Given the description of an element on the screen output the (x, y) to click on. 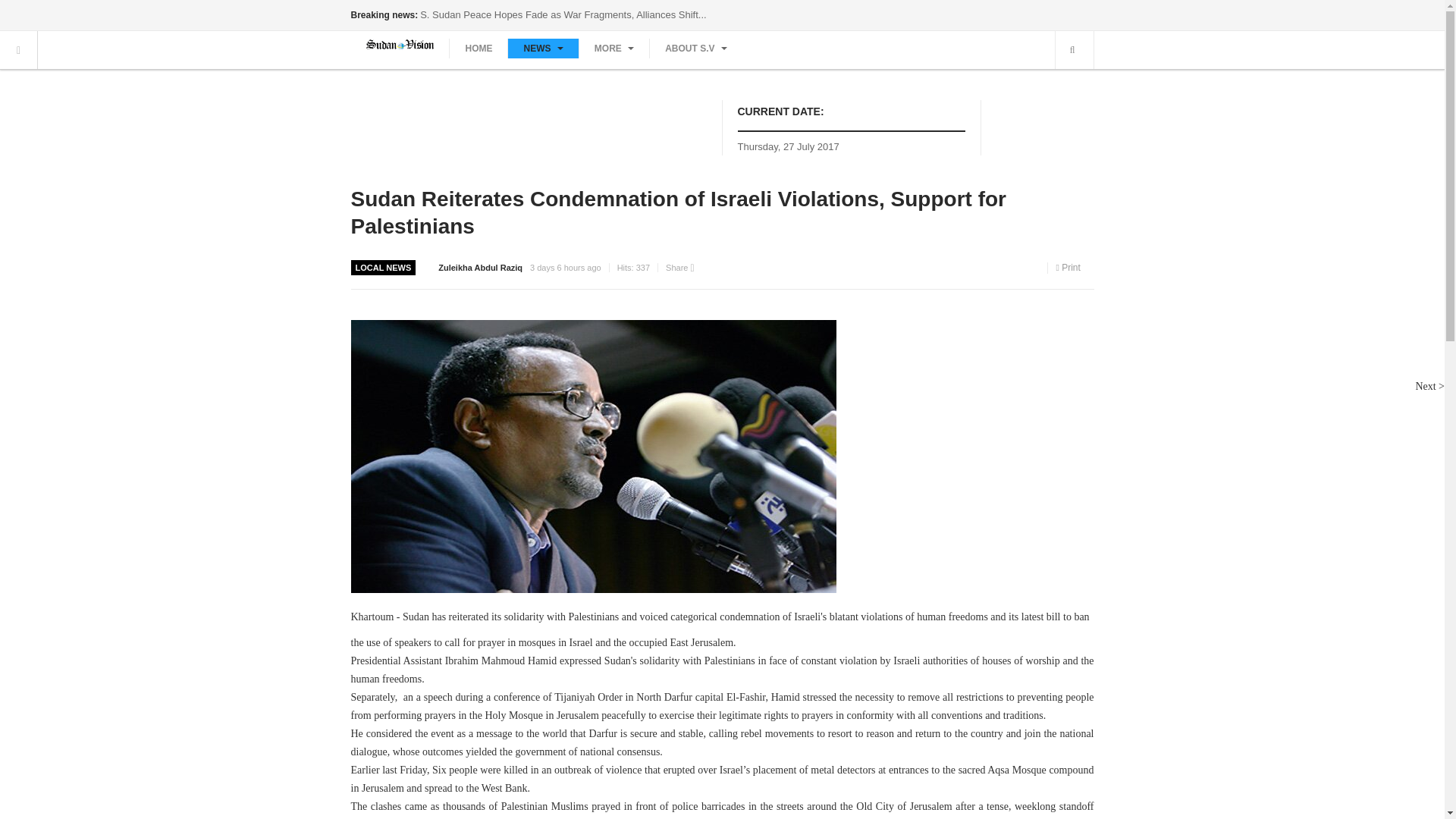
Sudan Vision Daily (399, 43)
MORE (613, 48)
HOME (477, 48)
LOCAL NEWS (383, 267)
Share (679, 267)
Zuleikha Abdul Raziq (480, 266)
ABOUT S.V (695, 48)
NEWS (542, 48)
